Given the description of an element on the screen output the (x, y) to click on. 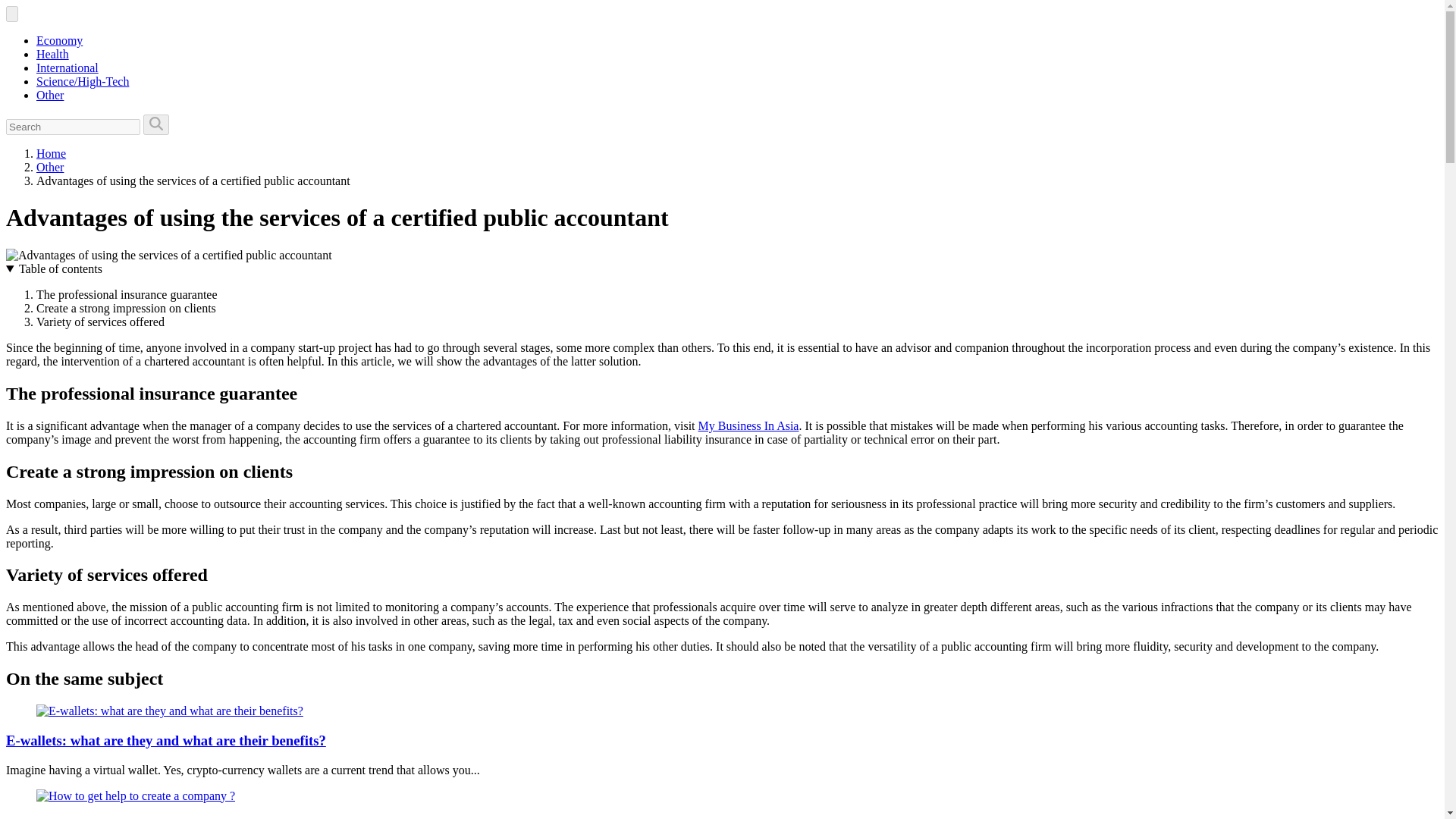
Economy (59, 40)
International (67, 67)
Home (50, 153)
E-wallets: what are they and what are their benefits? (165, 740)
Other (50, 94)
Create a strong impression on clients (125, 308)
How to get help to create a company ? (135, 795)
The professional insurance guarantee (126, 294)
E-wallets: what are they and what are their benefits? (165, 740)
